Given the description of an element on the screen output the (x, y) to click on. 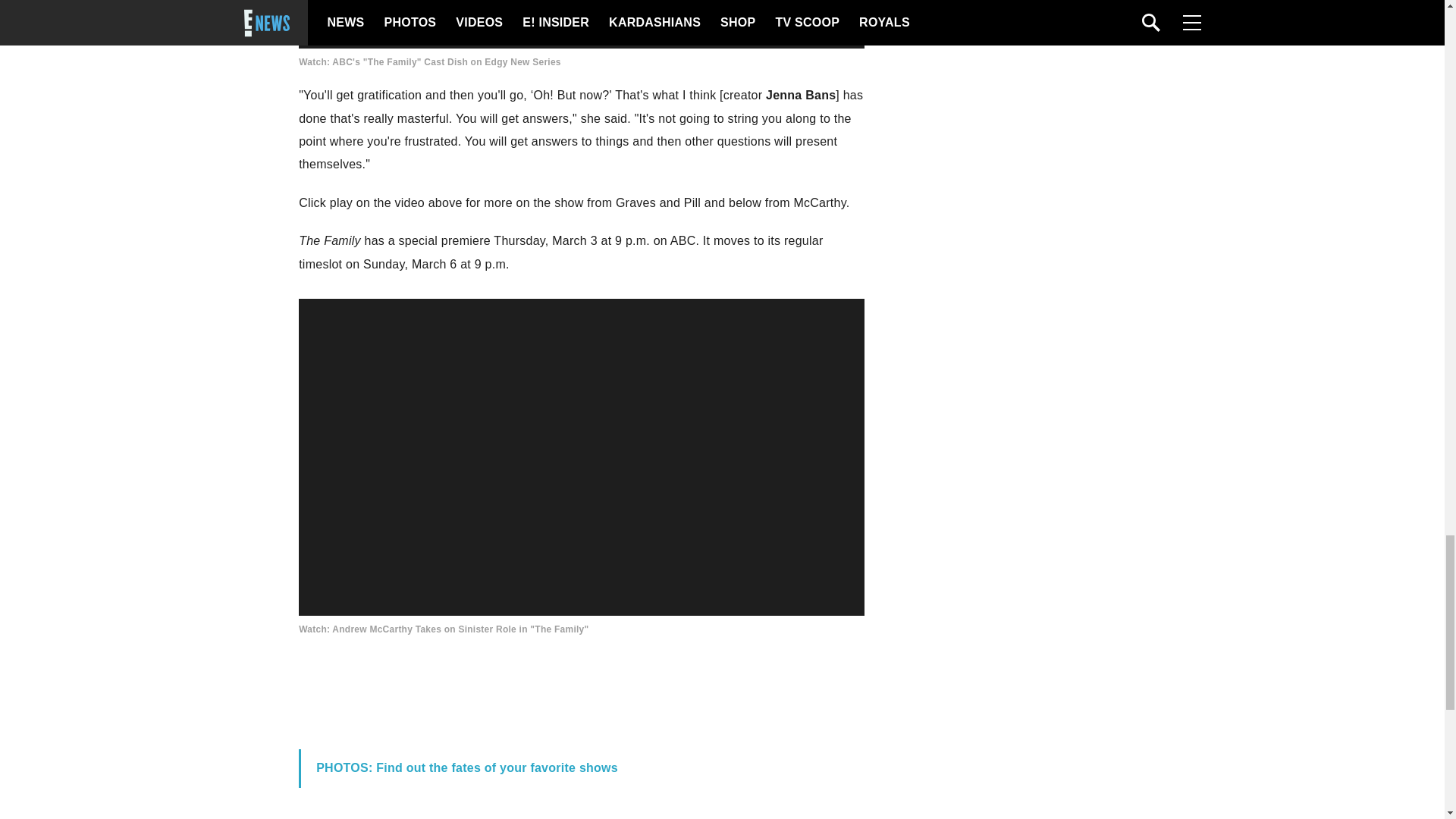
PHOTOS: Find out the fates of your favorite shows (466, 767)
